Given the description of an element on the screen output the (x, y) to click on. 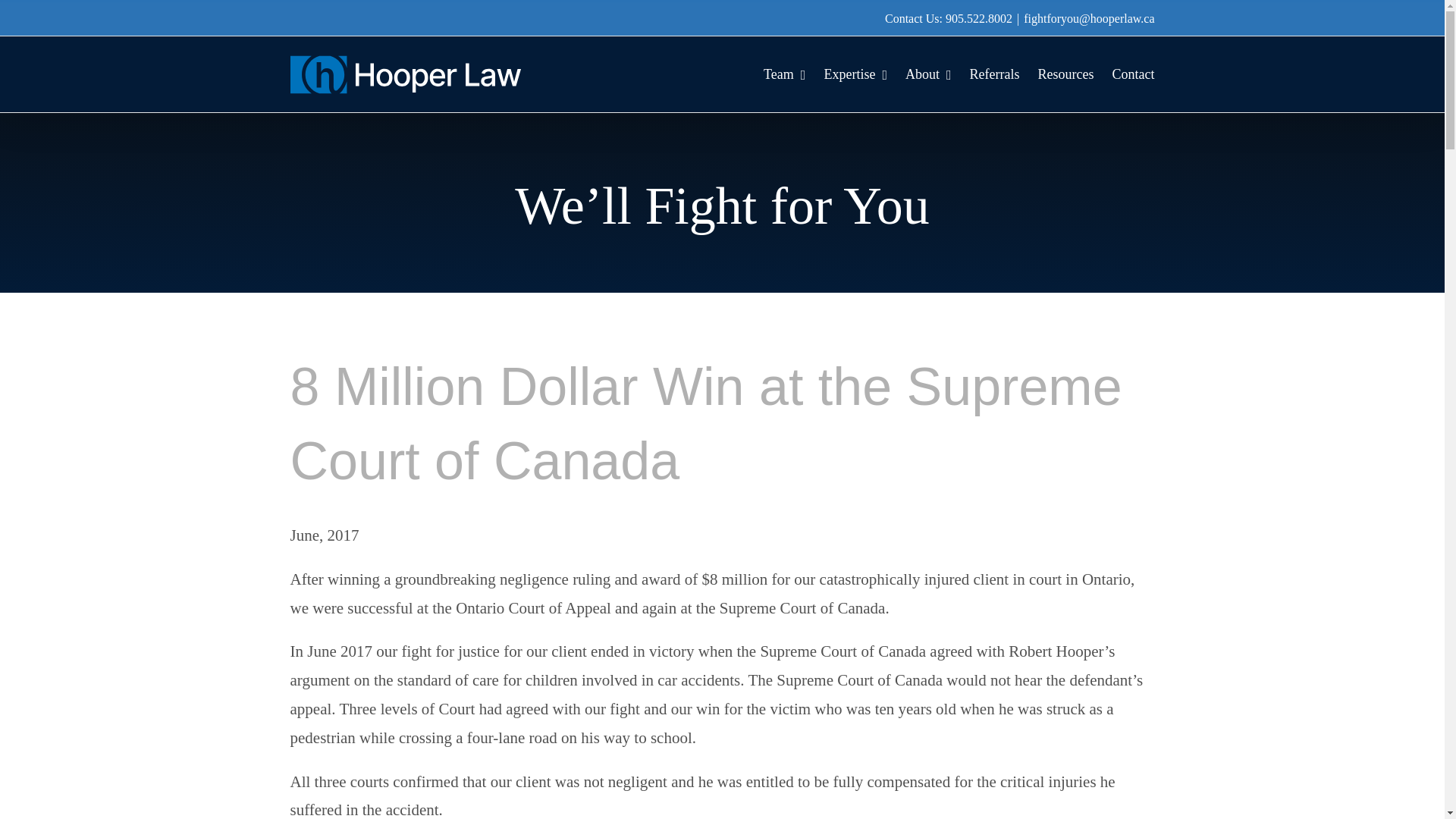
905.522.8002 (977, 18)
